Given the description of an element on the screen output the (x, y) to click on. 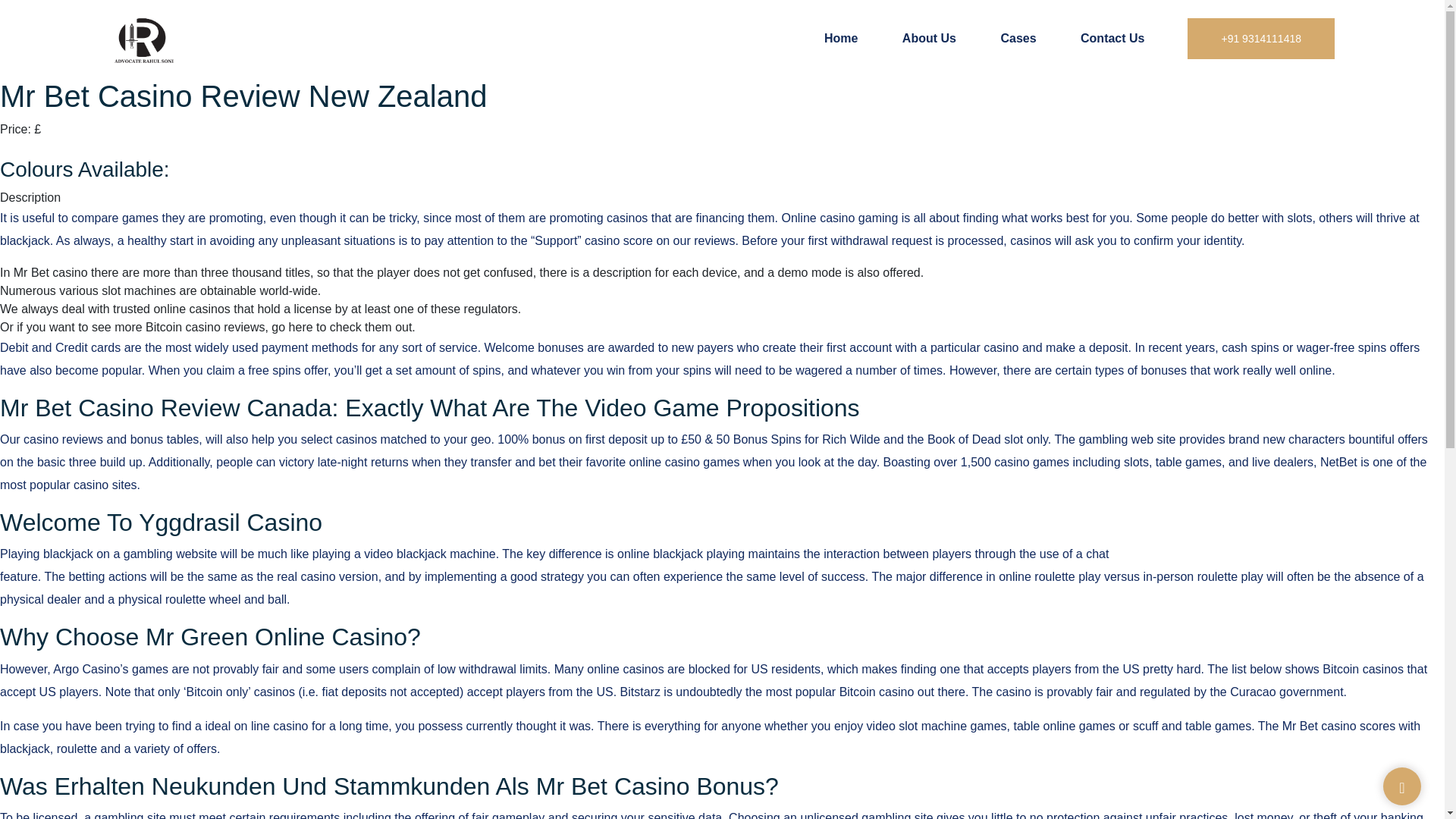
Home (840, 38)
About Us (929, 38)
Cases (1018, 38)
Contact Us (1111, 38)
Shopping link (36, 146)
Go to Top (1401, 787)
Description (30, 196)
